Given the description of an element on the screen output the (x, y) to click on. 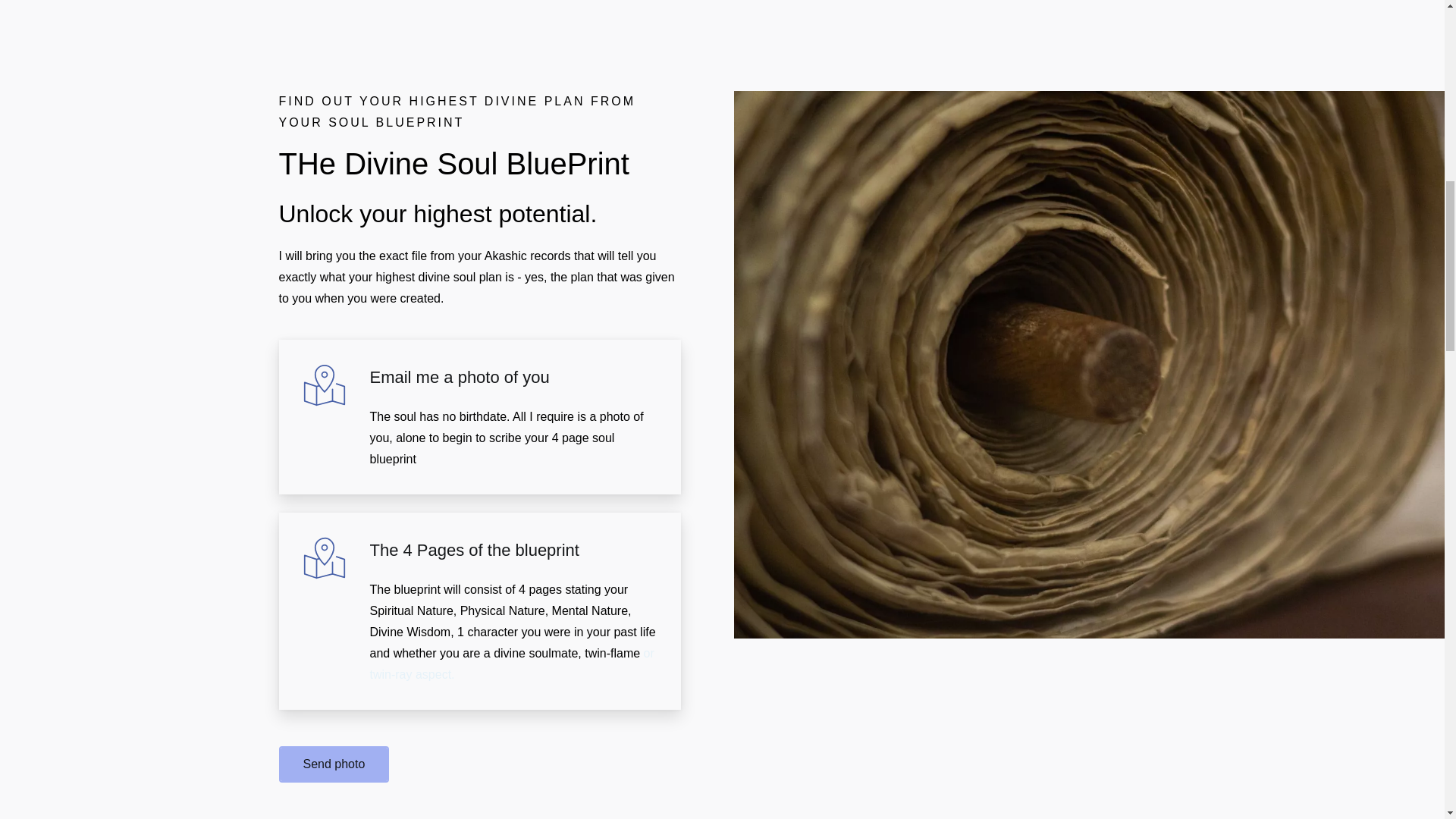
Send photo (334, 764)
